Given the description of an element on the screen output the (x, y) to click on. 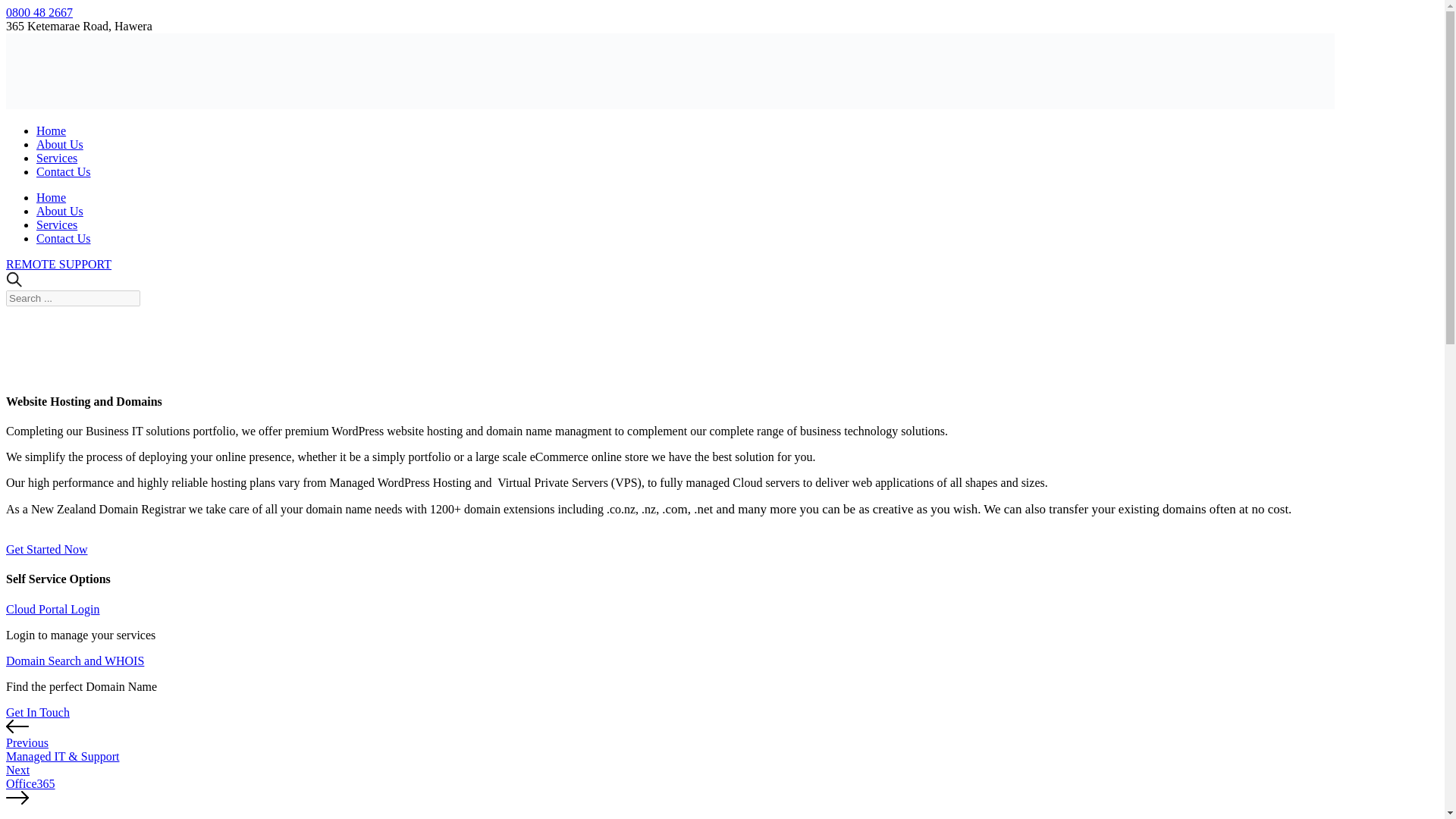
Home (50, 130)
Services (56, 157)
Domain Search and WHOIS (74, 660)
Home (50, 196)
Services (56, 157)
Get Started Now (46, 549)
Contact Us (63, 237)
About Us (59, 210)
About Us (59, 144)
Services (56, 224)
About Us (59, 210)
Get In Touch (37, 712)
Contact Us (63, 171)
Contact Us (63, 171)
Contact Us (63, 237)
